Given the description of an element on the screen output the (x, y) to click on. 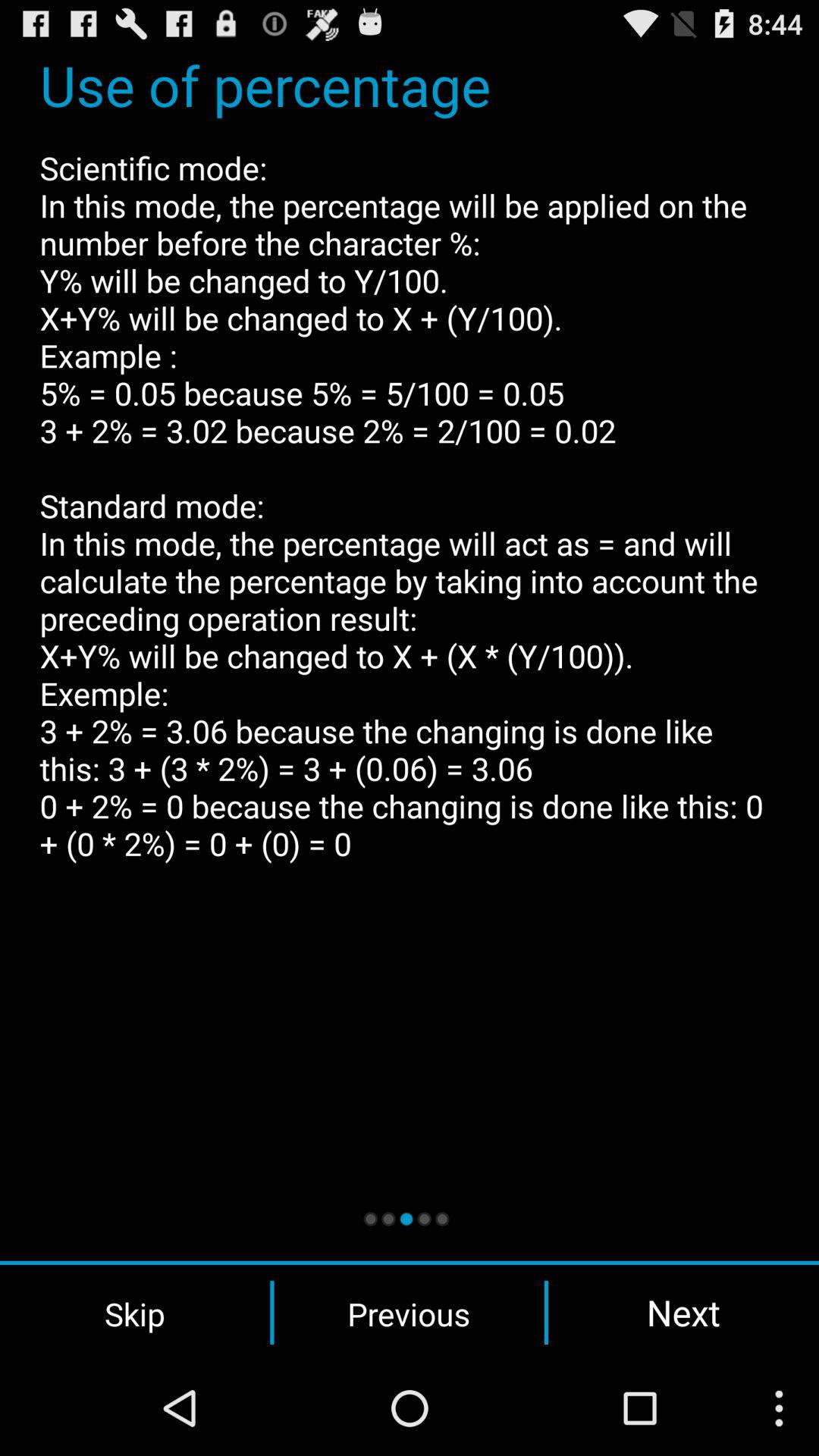
swipe until previous icon (409, 1313)
